Given the description of an element on the screen output the (x, y) to click on. 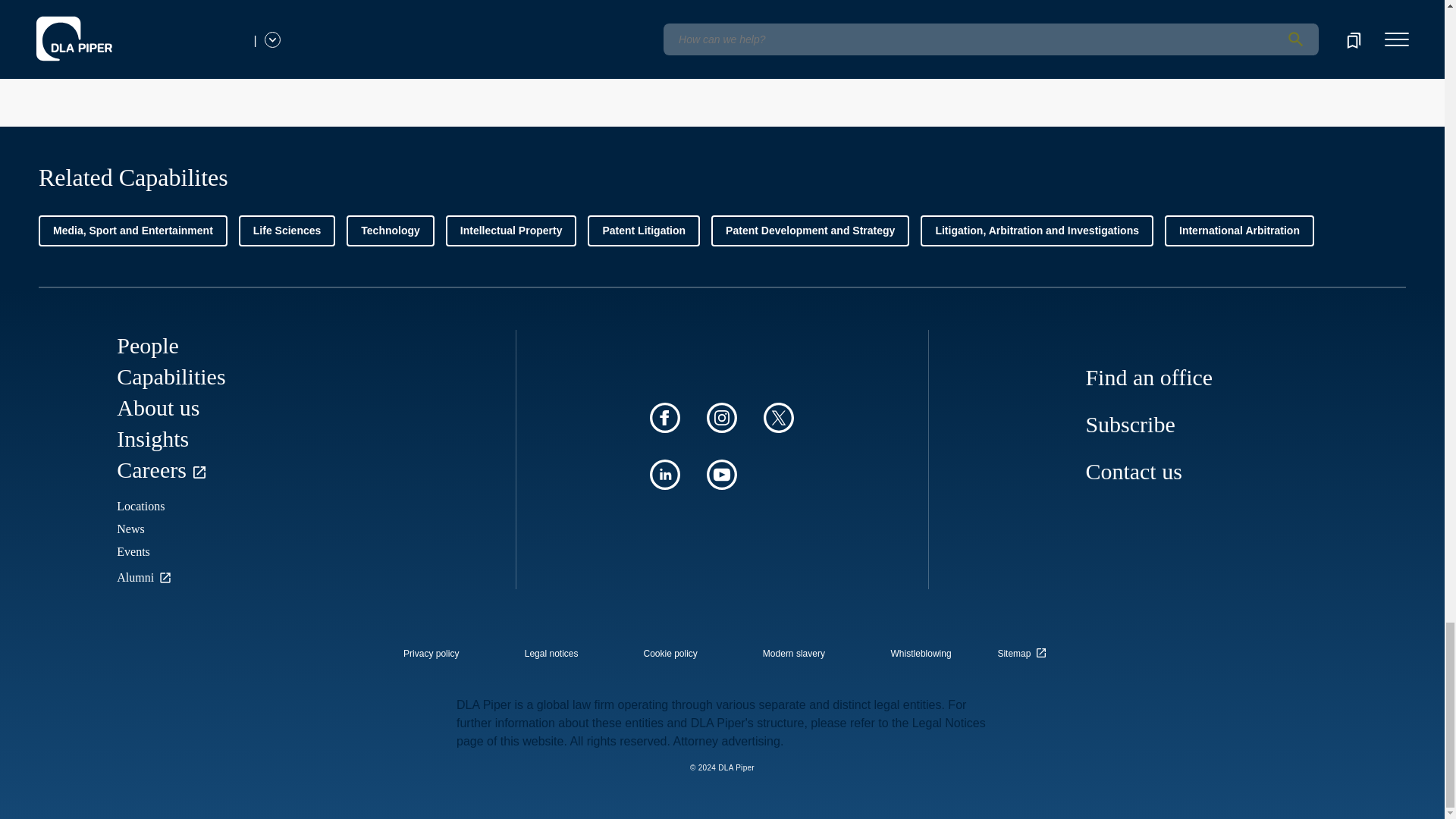
internal (430, 653)
internal (549, 653)
internal (920, 653)
internal (670, 653)
internal (793, 653)
external (1024, 649)
